Given the description of an element on the screen output the (x, y) to click on. 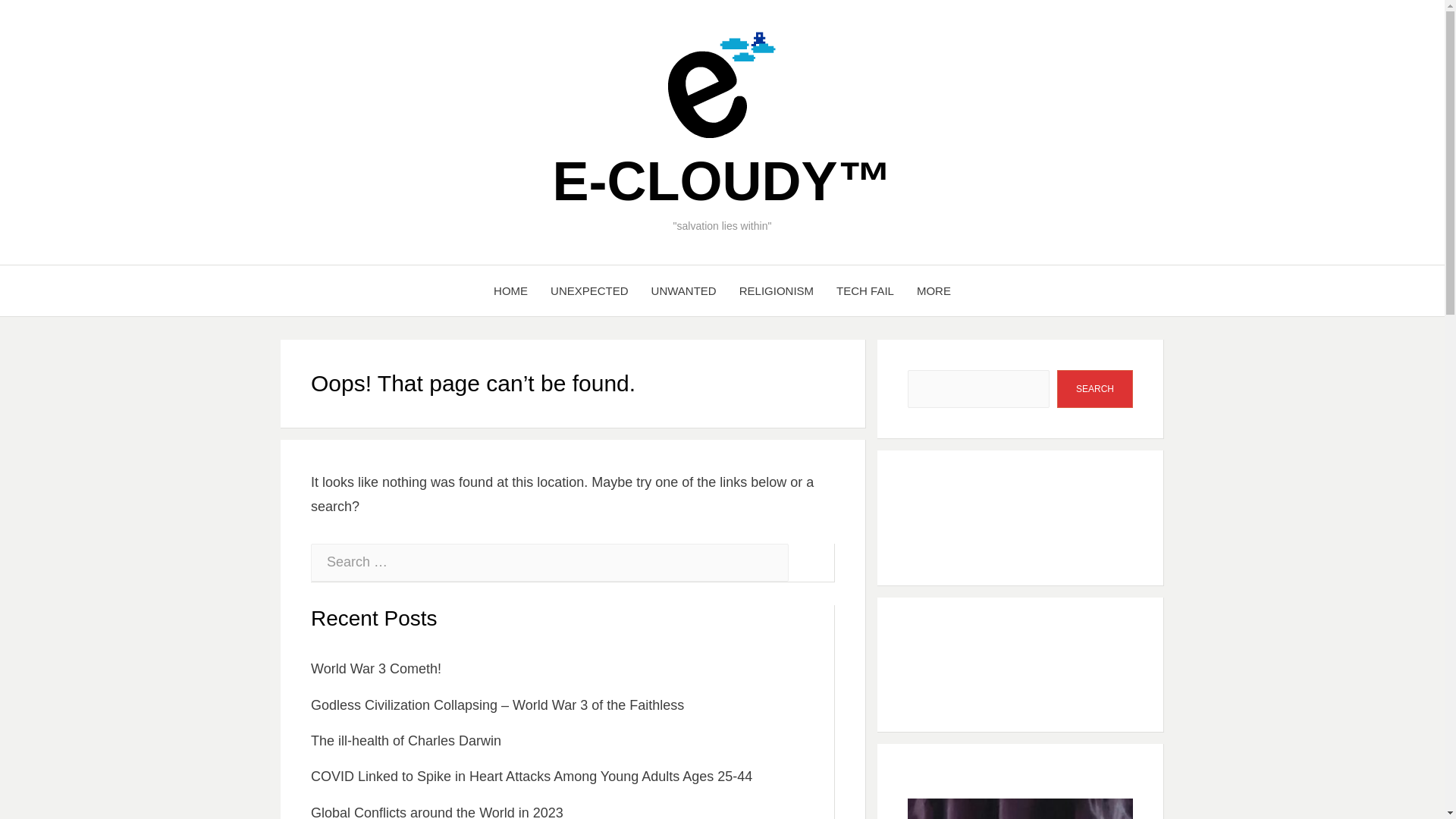
TECH FAIL (865, 290)
Global Conflicts around the World in 2023 (437, 812)
UNWANTED (684, 290)
World War 3 Cometh! (376, 668)
Search for: (550, 562)
MORE (933, 290)
UNEXPECTED (589, 290)
HOME (509, 290)
The ill-health of Charles Darwin (405, 740)
RELIGIONISM (776, 290)
